Given the description of an element on the screen output the (x, y) to click on. 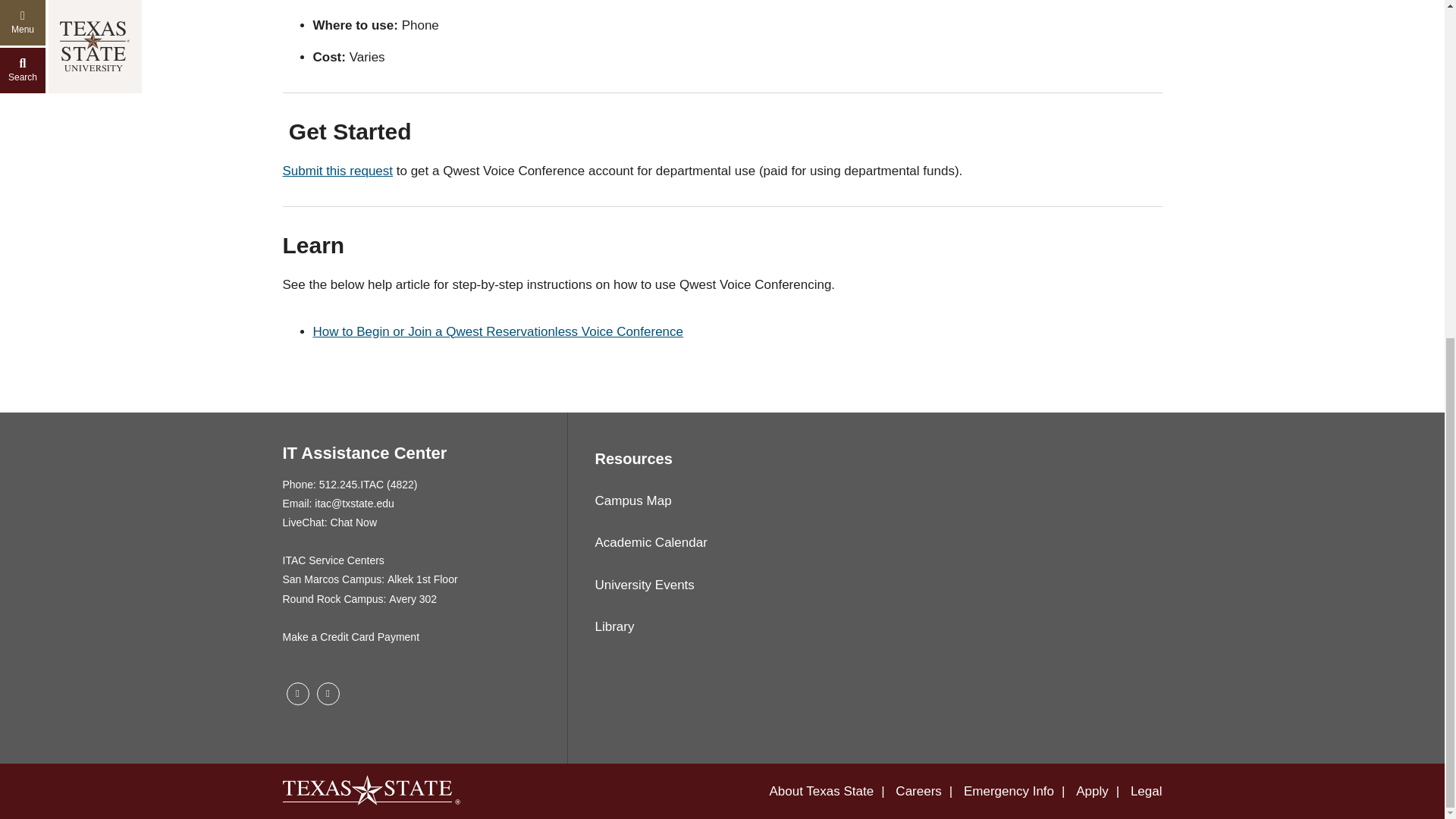
Submit this request (338, 170)
IT Assistance Center (364, 452)
Chat Now (353, 522)
Alkek 1st Floor (422, 579)
Avery 302 (412, 599)
